Given the description of an element on the screen output the (x, y) to click on. 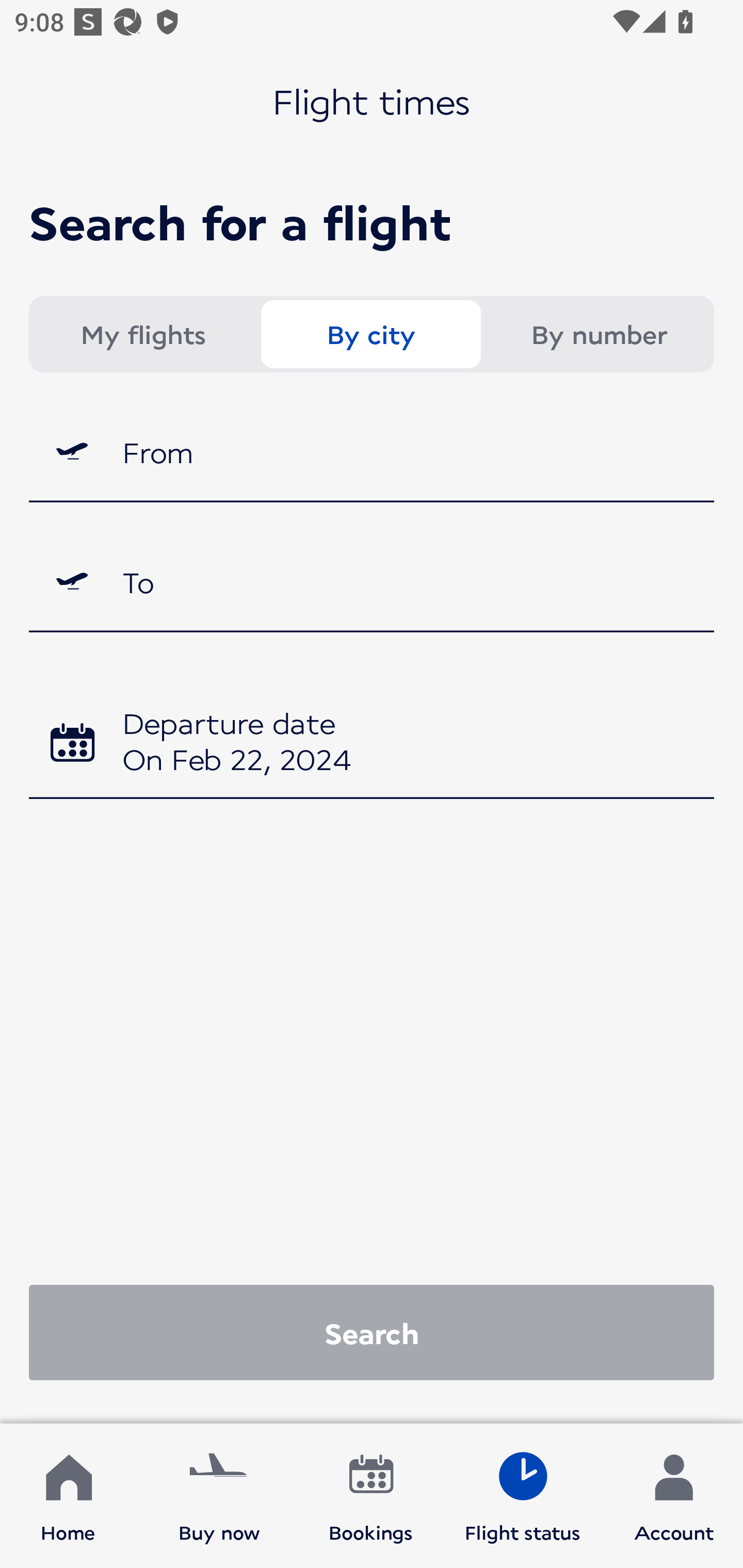
My flights (142, 334)
By city (370, 334)
By number (598, 334)
From (371, 451)
To (371, 581)
On Feb 22, 2024 Departure date (371, 744)
Search (371, 1331)
Home (68, 1495)
Buy now (219, 1495)
Bookings (370, 1495)
Account (674, 1495)
